Given the description of an element on the screen output the (x, y) to click on. 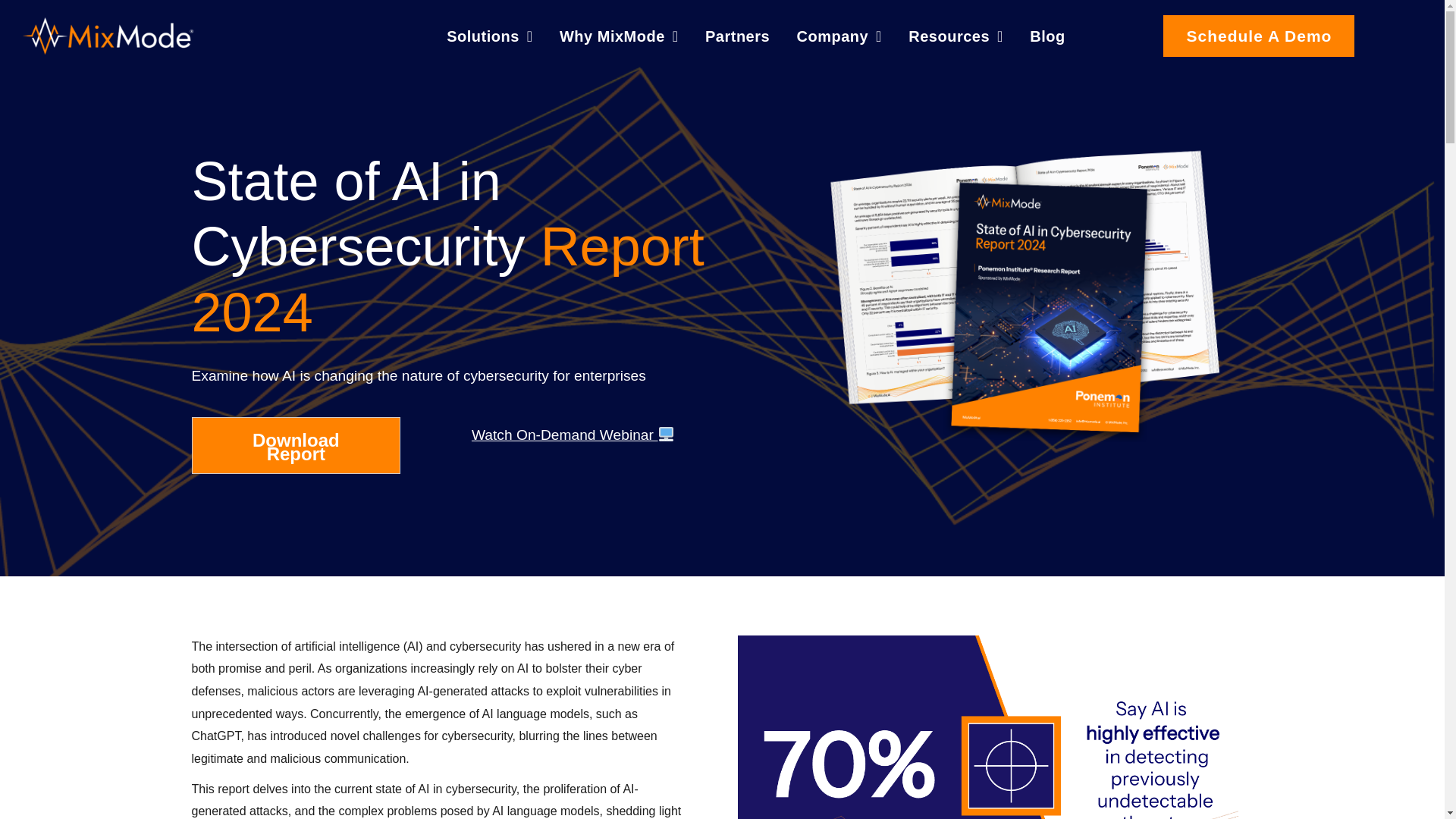
state-of-ai-lp-cover-image (1024, 292)
Partners (737, 35)
Solutions (490, 35)
MixMode - 70 percent of AI is highly effective (986, 727)
Why MixMode (618, 35)
Resources (955, 35)
Company (839, 35)
